Given the description of an element on the screen output the (x, y) to click on. 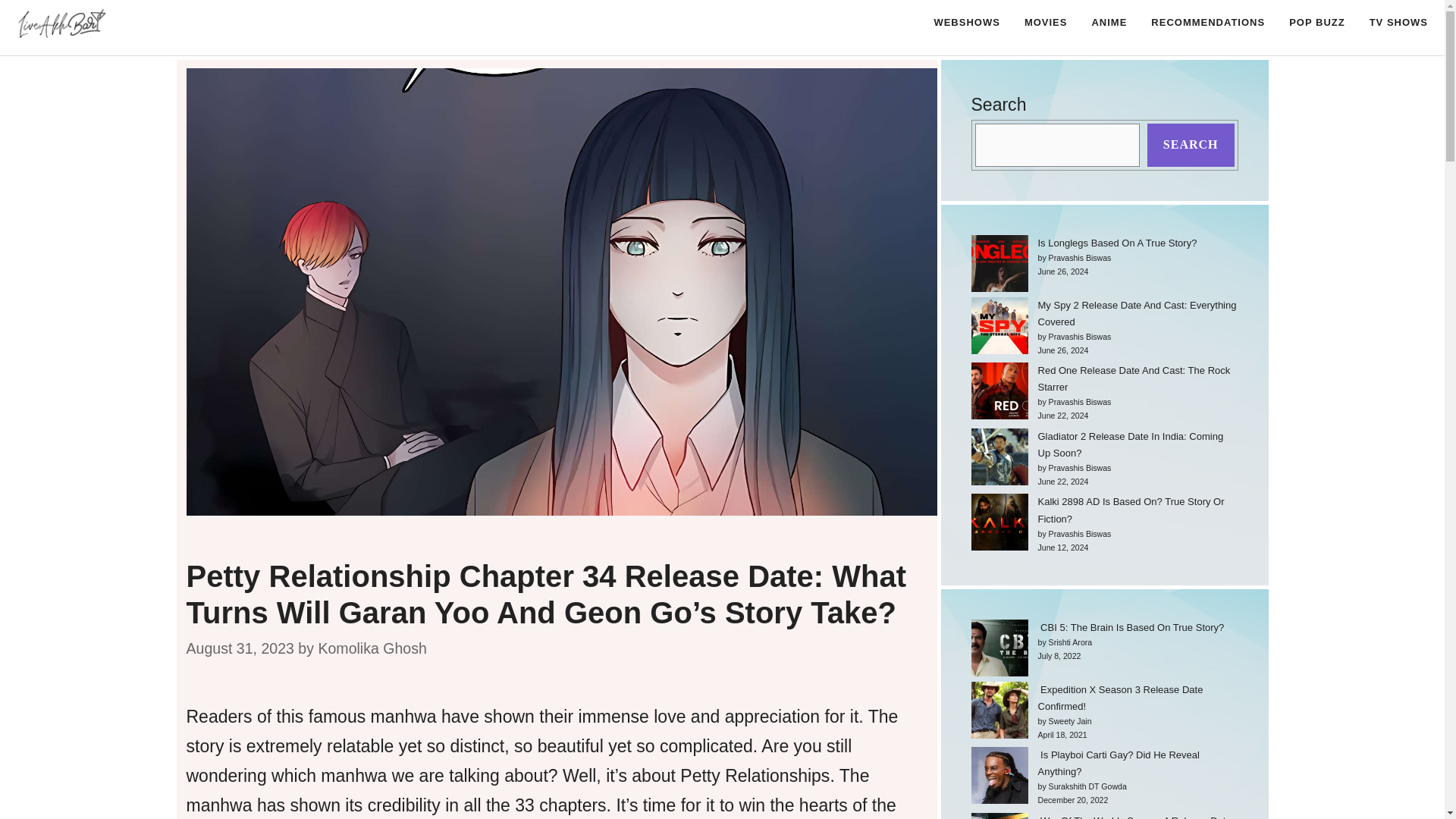
Komolika Ghosh (371, 647)
RECOMMENDATIONS (1207, 22)
WEBSHOWS (966, 22)
 Is Playboi Carti Gay? Did He Reveal Anything? (1117, 763)
 Expedition X Season 3 Release Date Confirmed! (1119, 697)
My Spy 2 Release Date And Cast: Everything Covered (1136, 313)
POP BUZZ (1316, 22)
Is Longlegs Based On A True Story? (1116, 242)
SEARCH (1190, 145)
Red One Release Date And Cast: The Rock Starrer (1133, 378)
